Given the description of an element on the screen output the (x, y) to click on. 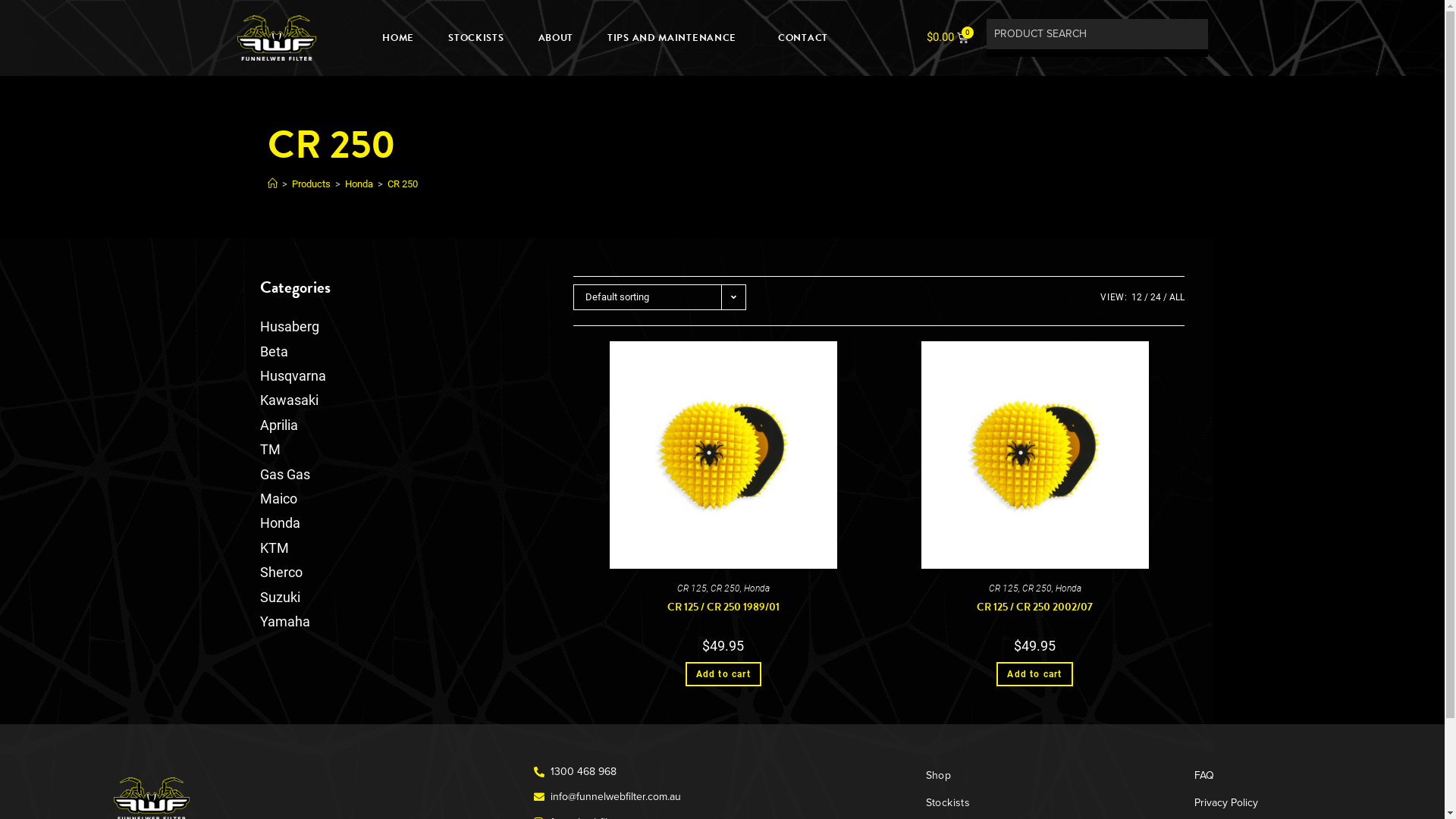
info@funnelwebfilter.com.au Element type: text (721, 796)
Shop Element type: text (1044, 775)
Yamaha Element type: text (284, 621)
CR 125 Element type: text (1003, 588)
TM Element type: text (269, 449)
Sherco Element type: text (280, 572)
Stockists Element type: text (1044, 802)
KTM Element type: text (273, 547)
Kawasaki Element type: text (288, 399)
Honda Element type: text (279, 522)
Privacy Policy Element type: text (1254, 802)
Suzuki Element type: text (279, 597)
Honda Element type: text (756, 588)
24 Element type: text (1155, 296)
ALL Element type: text (1176, 296)
CR 125 Element type: text (691, 588)
1300 468 968 Element type: text (721, 771)
CR 125 / CR 250 2002/07 Element type: text (1034, 607)
Search Element type: text (35, 15)
CR 250 Element type: text (401, 183)
TIPS AND MAINTENANCE Element type: text (675, 37)
CR 250 Element type: text (1036, 588)
CONTACT Element type: text (802, 37)
Husaberg Element type: text (288, 326)
logo Element type: hover (275, 37)
STOCKISTS Element type: text (475, 37)
Add to cart Element type: text (1034, 674)
Add to cart Element type: text (723, 674)
Maico Element type: text (277, 498)
Husqvarna Element type: text (292, 375)
Honda Element type: text (358, 183)
HOME Element type: text (397, 37)
CR 125 / CR 250 1989/01 Element type: text (723, 607)
ABOUT Element type: text (556, 37)
Products Element type: text (310, 183)
Gas Gas Element type: text (284, 474)
CR 250 Element type: text (725, 588)
Aprilia Element type: text (278, 425)
Beta Element type: text (273, 351)
$0.00
0 Element type: text (947, 37)
Honda Element type: text (1068, 588)
12 Element type: text (1136, 296)
FAQ Element type: text (1254, 775)
